Given the description of an element on the screen output the (x, y) to click on. 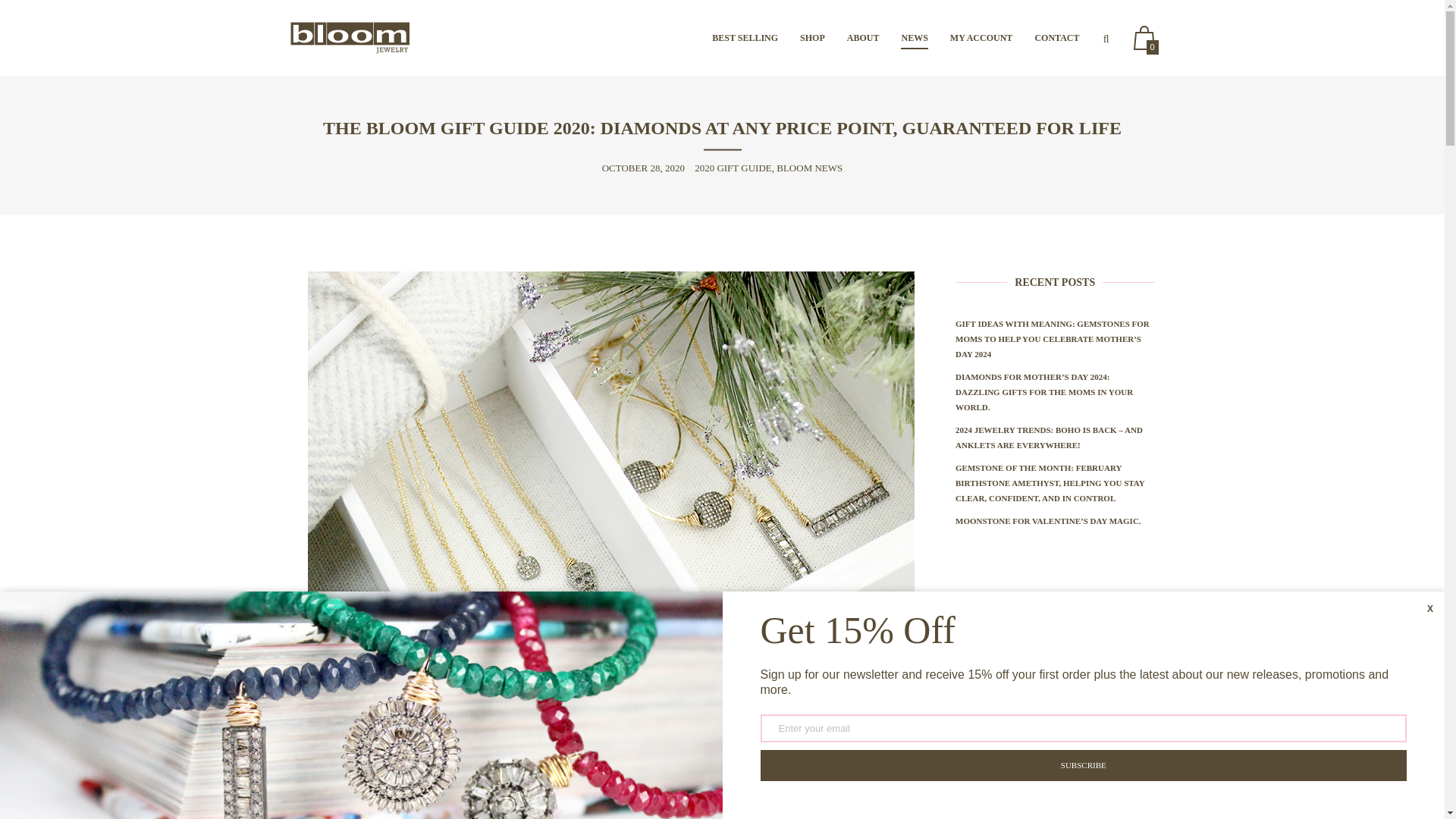
Skip to primary content (764, 37)
Skip to secondary content (771, 37)
Bloom Jewelry (349, 37)
SUBSCRIBE (1083, 765)
